Given the description of an element on the screen output the (x, y) to click on. 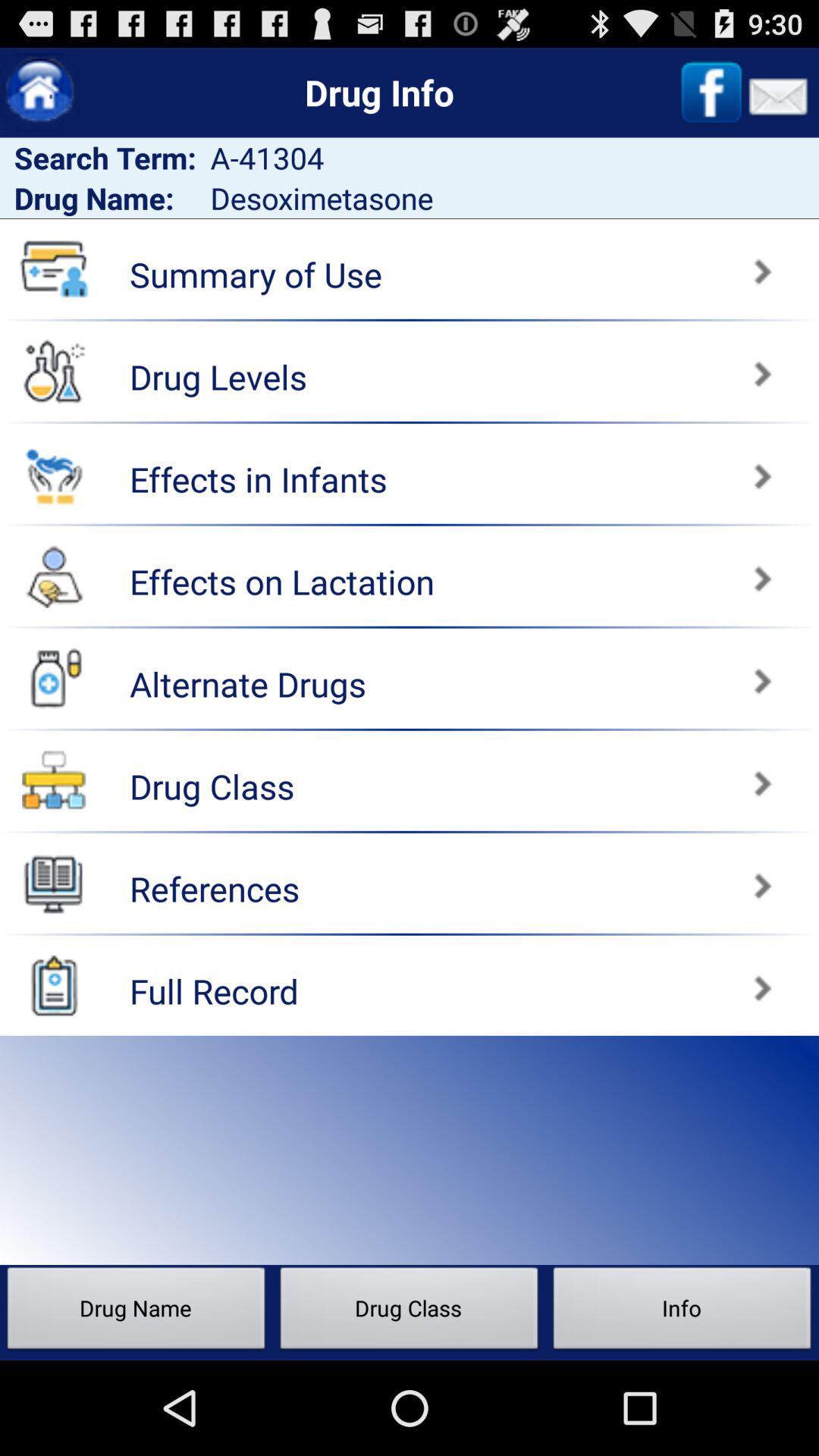
full record icon (53, 985)
